Given the description of an element on the screen output the (x, y) to click on. 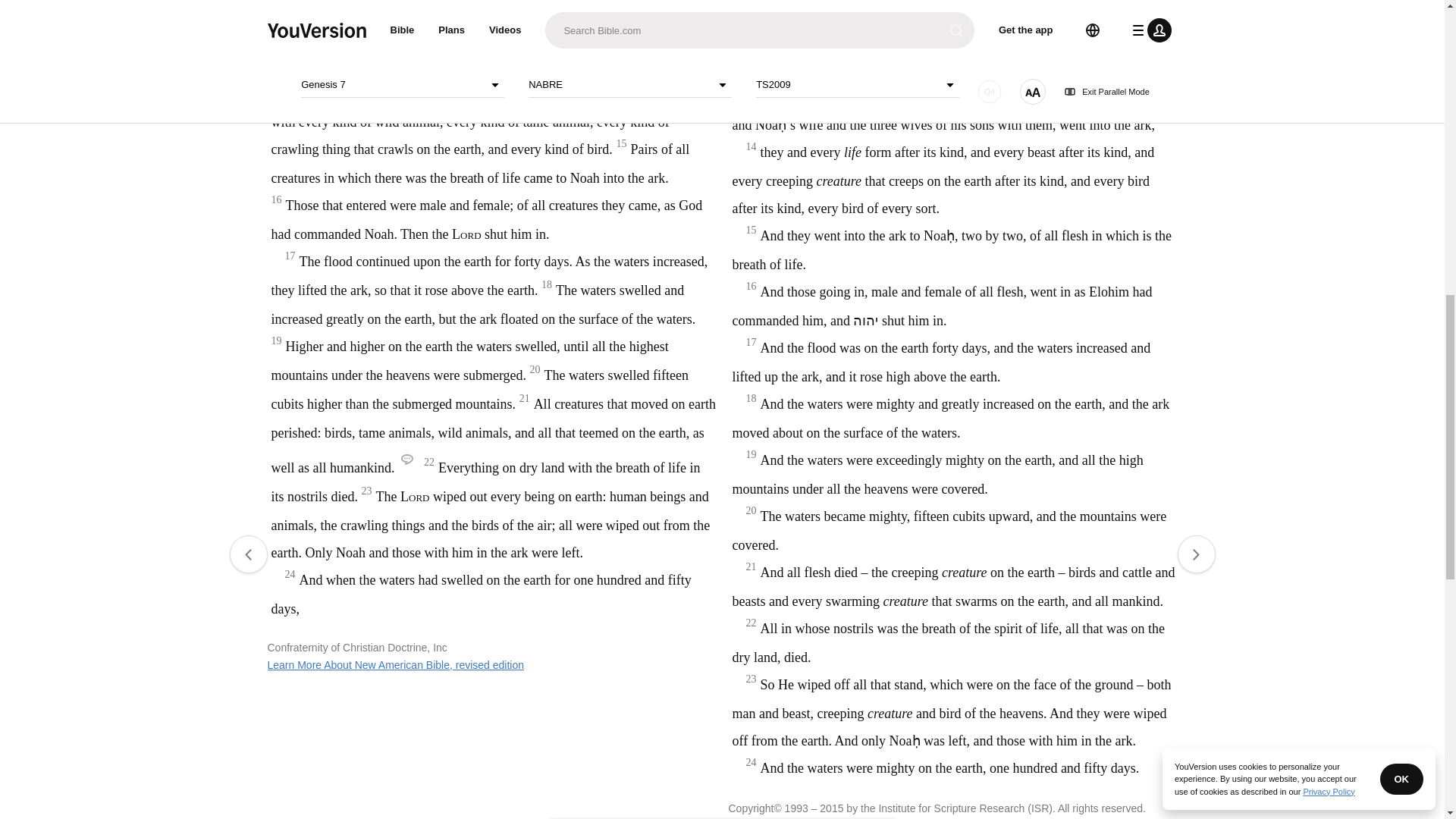
Sign up or sign in (774, 245)
Learn More About New American Bible, revised edition (395, 664)
: (599, 47)
Genesis 7: NABRE (626, 47)
